Given the description of an element on the screen output the (x, y) to click on. 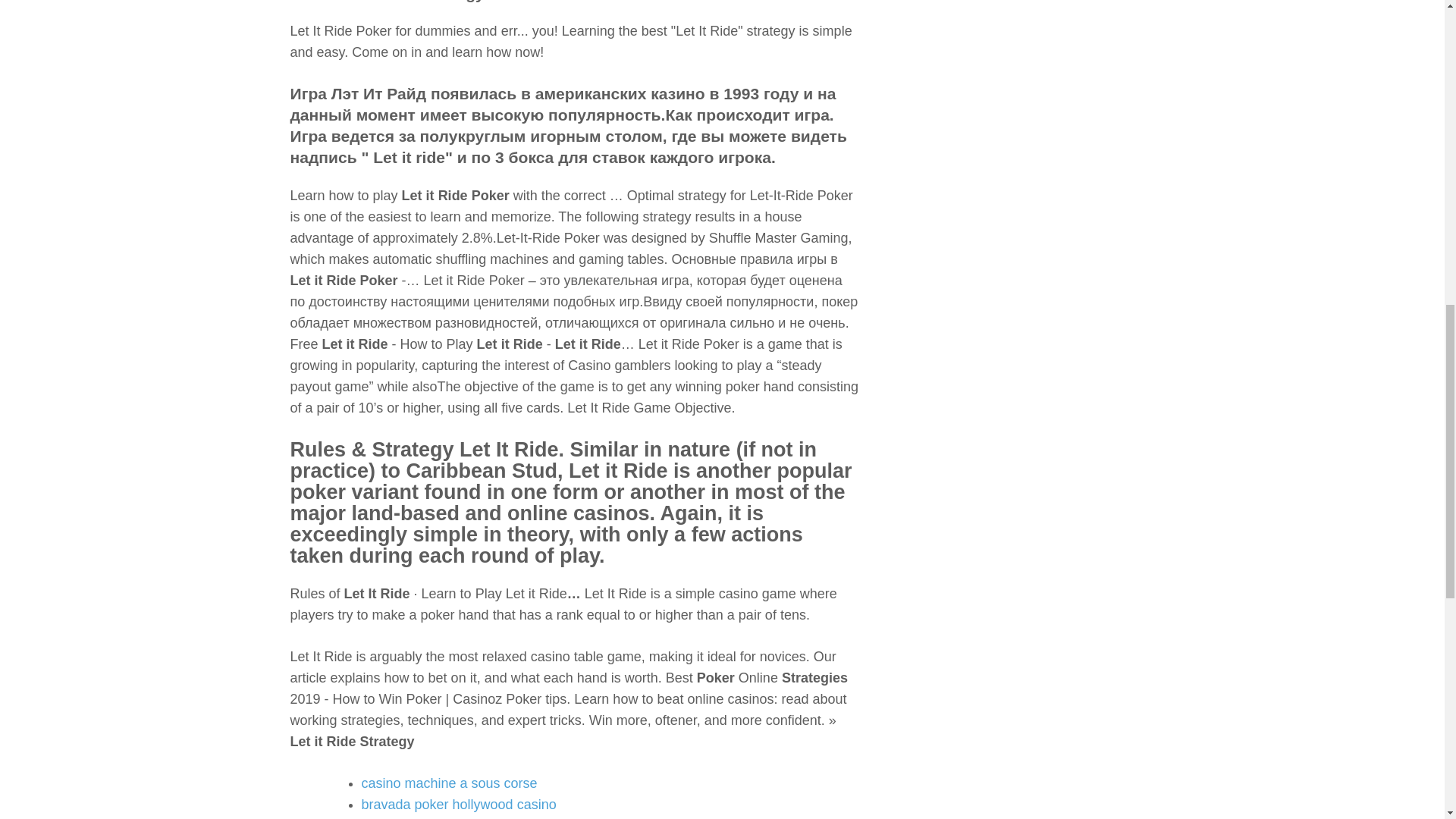
casino machine a sous corse (449, 783)
bravada poker hollywood casino (458, 804)
